Given the description of an element on the screen output the (x, y) to click on. 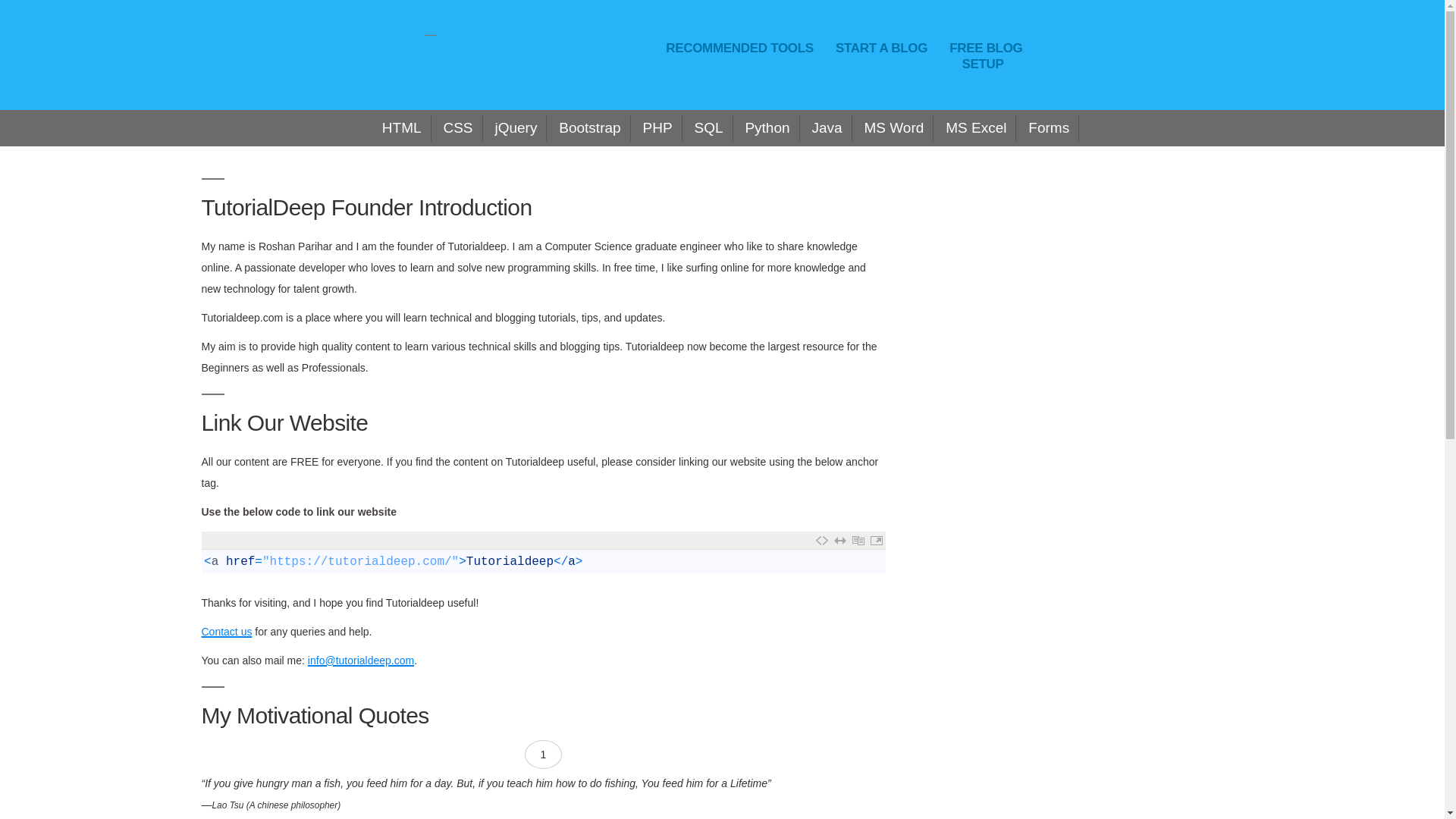
CSS (457, 127)
Open Code In New Window (876, 540)
Copy (857, 540)
SQL (708, 127)
MS Word (893, 127)
Python (767, 127)
Bootstrap (589, 127)
MS Excel (976, 127)
jQuery (515, 127)
RECOMMENDED TOOLS (739, 47)
